Given the description of an element on the screen output the (x, y) to click on. 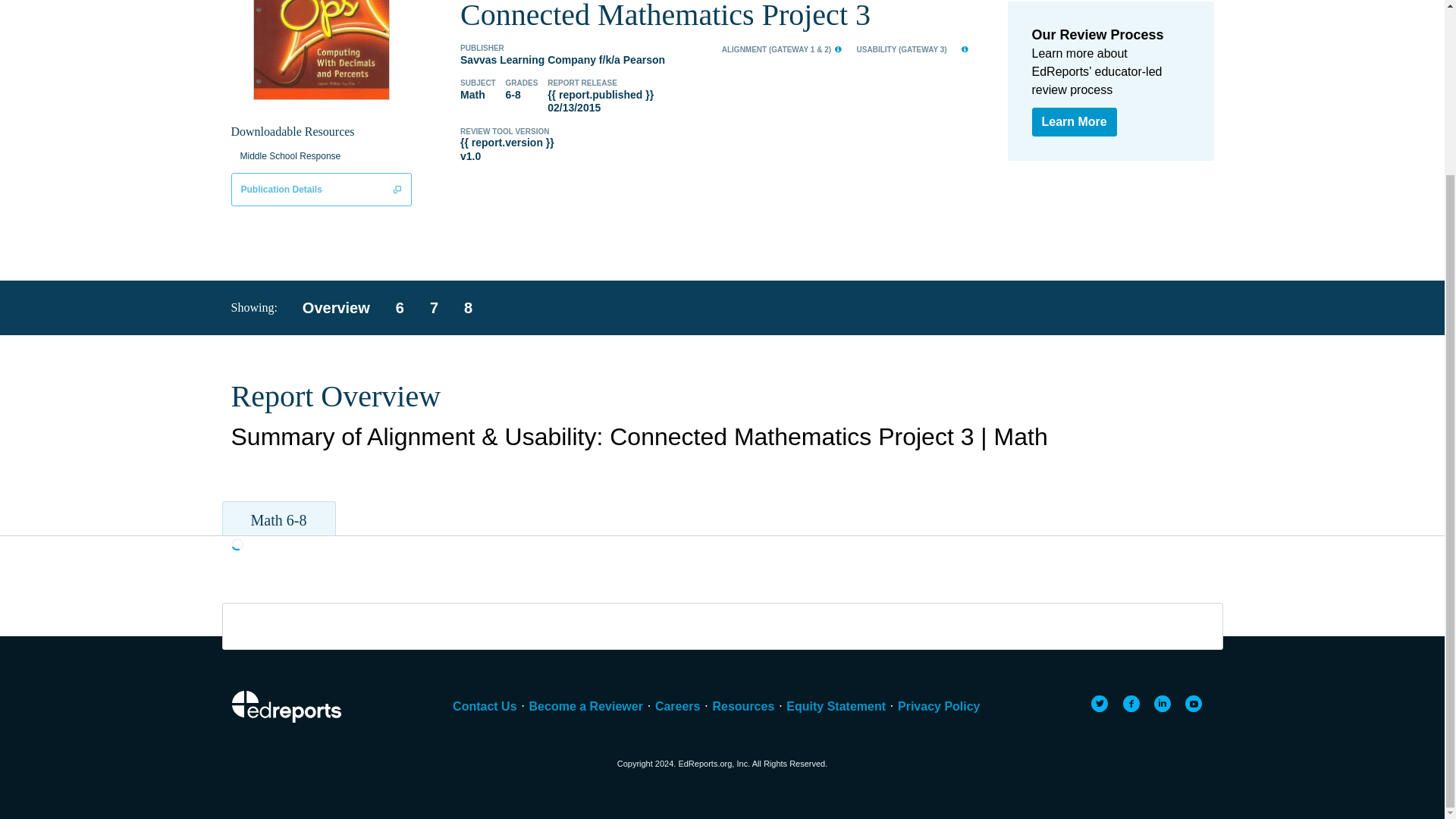
Learn More (1073, 121)
Middle School Response (292, 156)
Twitter (1099, 703)
YouTube (1193, 703)
Publication Details (321, 189)
Facebook (1131, 703)
LinkedIn (1162, 703)
